Given the description of an element on the screen output the (x, y) to click on. 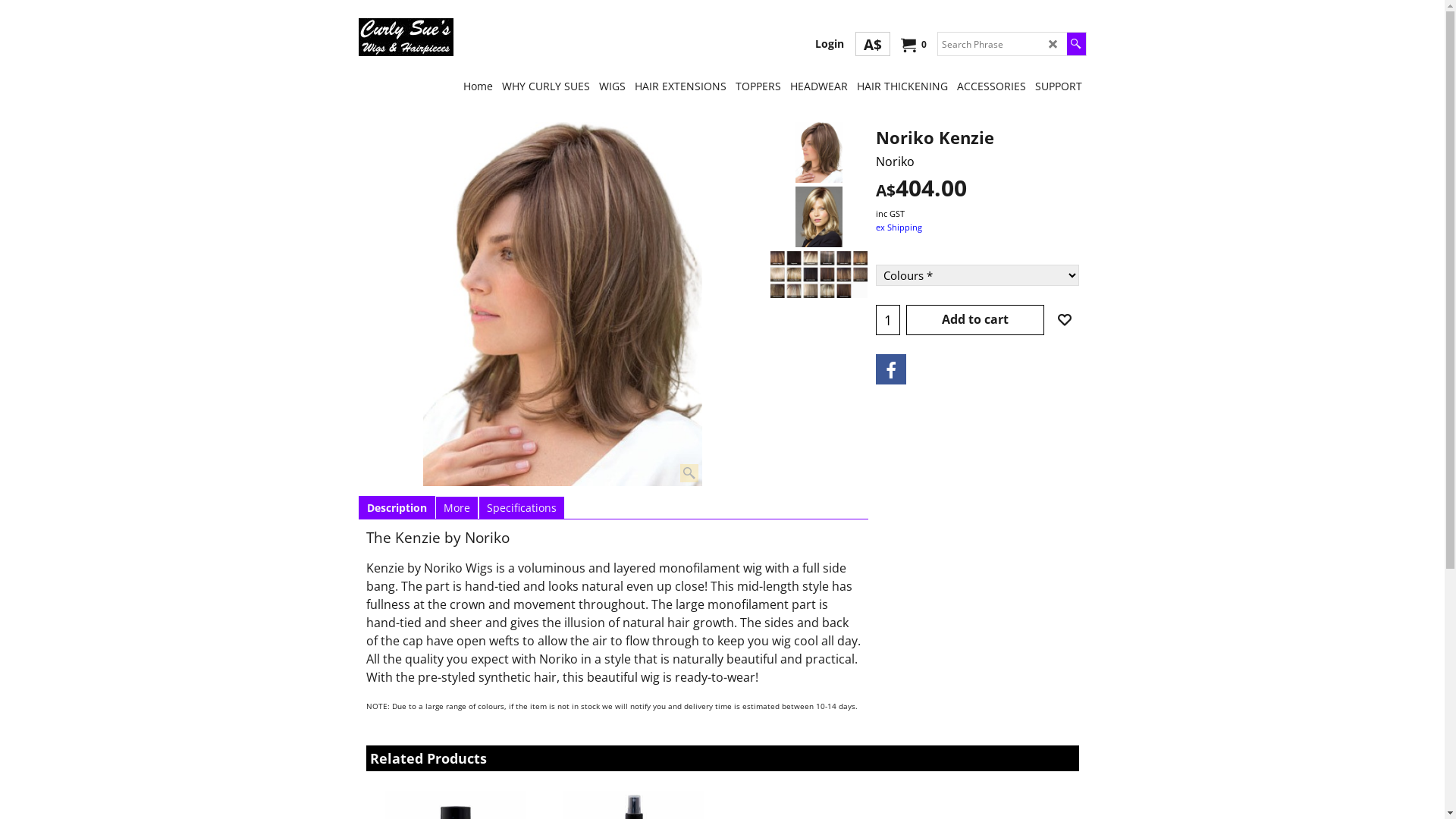
CS Logo Element type: hover (404, 37)
1 Element type: text (887, 319)
More Element type: text (455, 507)
Kenzie Wig Element type: hover (562, 304)
Specifications Element type: text (521, 507)
ex Shipping Element type: text (898, 226)
WHY CURLY SUES Element type: text (545, 85)
ACCESSORIES Element type: text (991, 85)
LD_CANCEL Element type: hover (1052, 43)
SUPPORT Element type: text (1057, 85)
Description Element type: text (396, 507)
Noriko Kenzie Side Element type: hover (818, 216)
Facebook Element type: hover (890, 369)
Noriko Kenzie Side Element type: hover (818, 216)
Login Element type: text (828, 43)
HEADWEAR Element type: text (818, 85)
Home Element type: text (477, 85)
Favorites Element type: hover (1063, 319)
Find Element type: hover (1075, 43)
Noriko Kenzie Element type: text (976, 153)
HAIR THICKENING Element type: text (902, 85)
0 Element type: text (910, 44)
Kenzie Colours Element type: hover (818, 274)
TOPPERS Element type: text (758, 85)
A$ Element type: text (872, 43)
HAIR EXTENSIONS Element type: text (679, 85)
WIGS Element type: text (612, 85)
Add to cart Element type: text (974, 319)
